Given the description of an element on the screen output the (x, y) to click on. 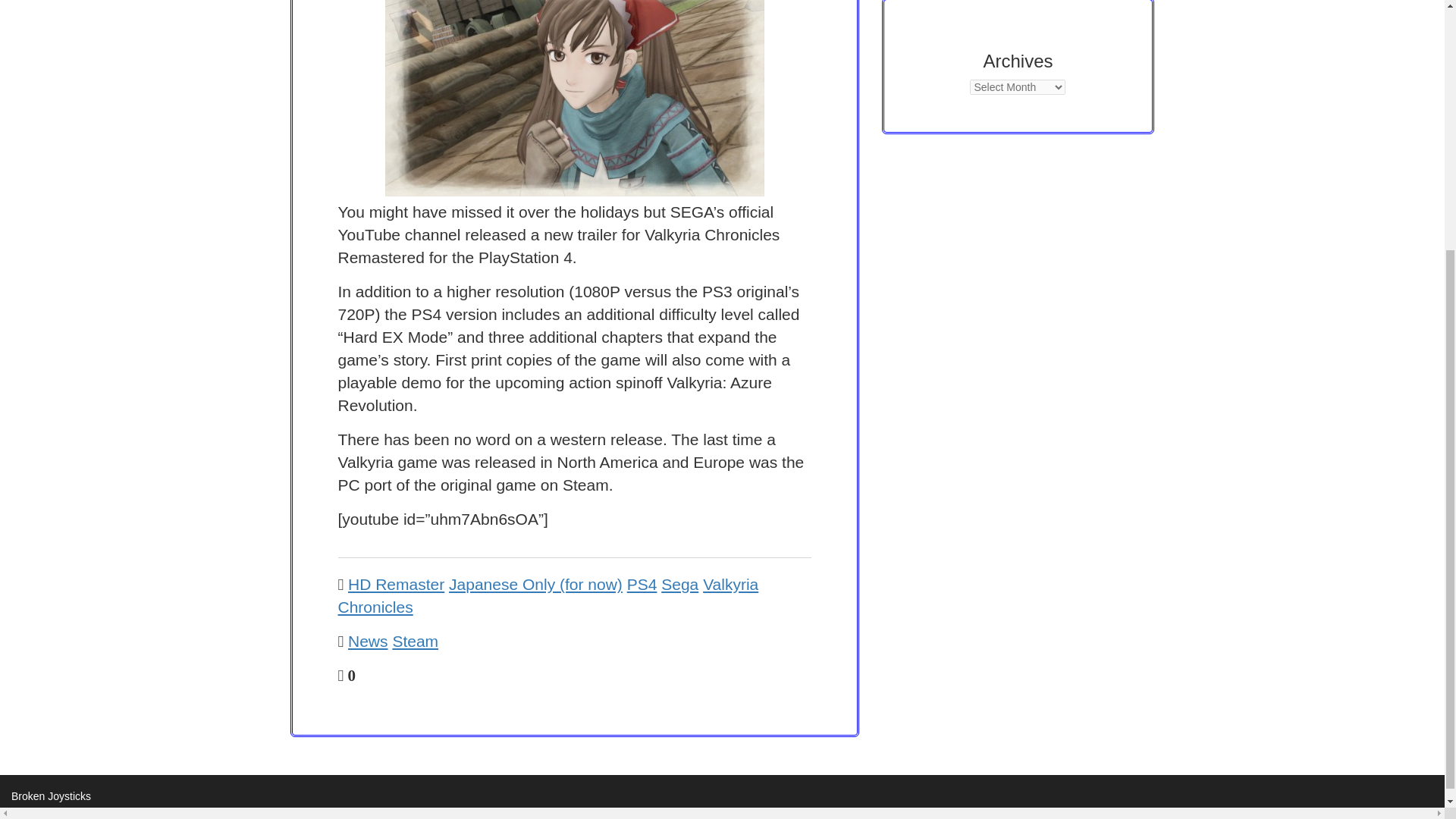
PS4 (642, 583)
News (367, 641)
Sega (679, 583)
HD Remaster (395, 583)
Valkyria Chronicles (547, 595)
Steam (414, 641)
